Given the description of an element on the screen output the (x, y) to click on. 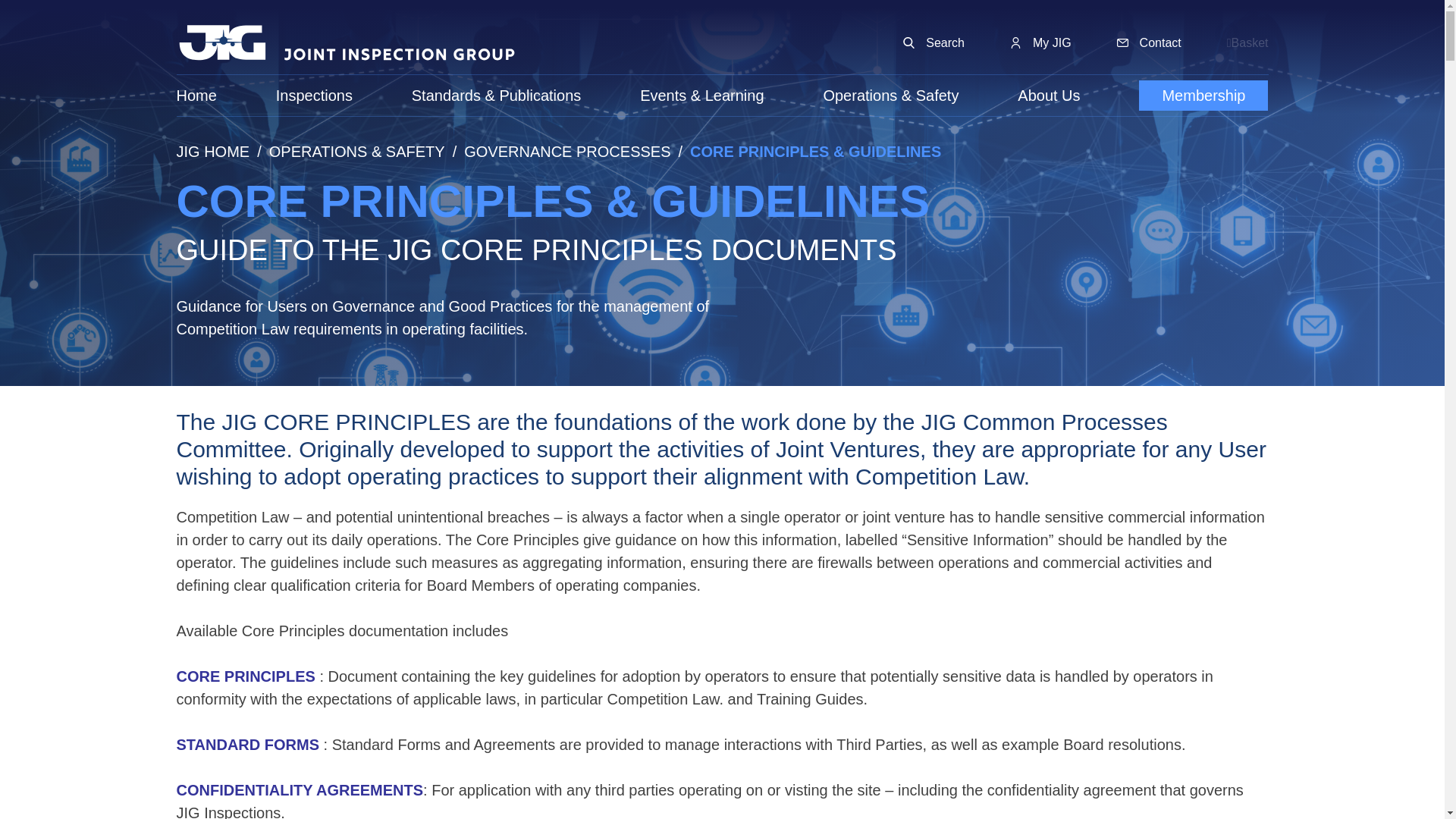
Inspections (314, 95)
Home (195, 95)
Contact (1148, 43)
Basket (1247, 43)
Search (932, 43)
Basket (1247, 43)
My JIG (1040, 43)
